Given the description of an element on the screen output the (x, y) to click on. 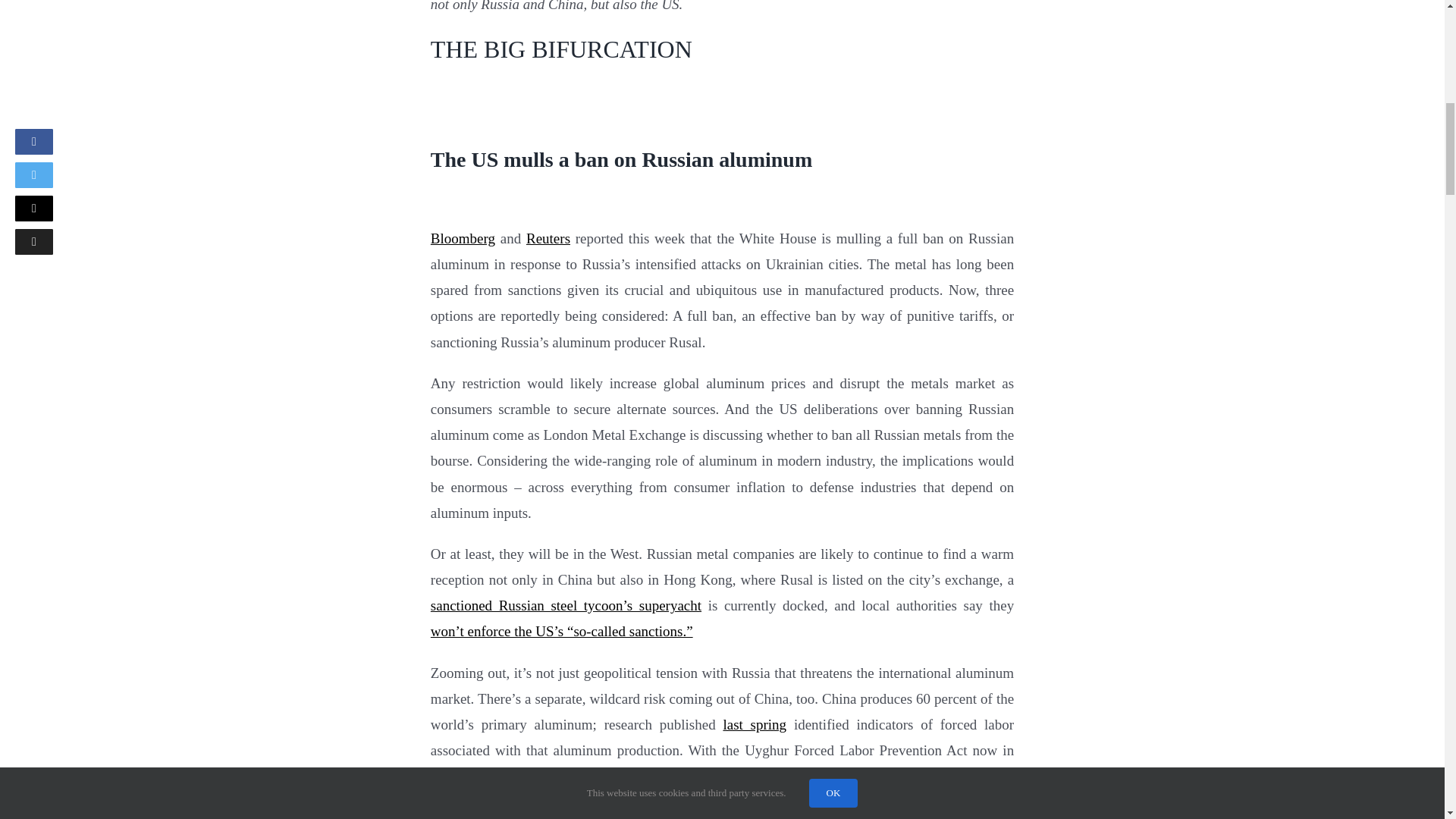
Reuters (547, 238)
last spring (754, 724)
Bloomberg (462, 238)
